Given the description of an element on the screen output the (x, y) to click on. 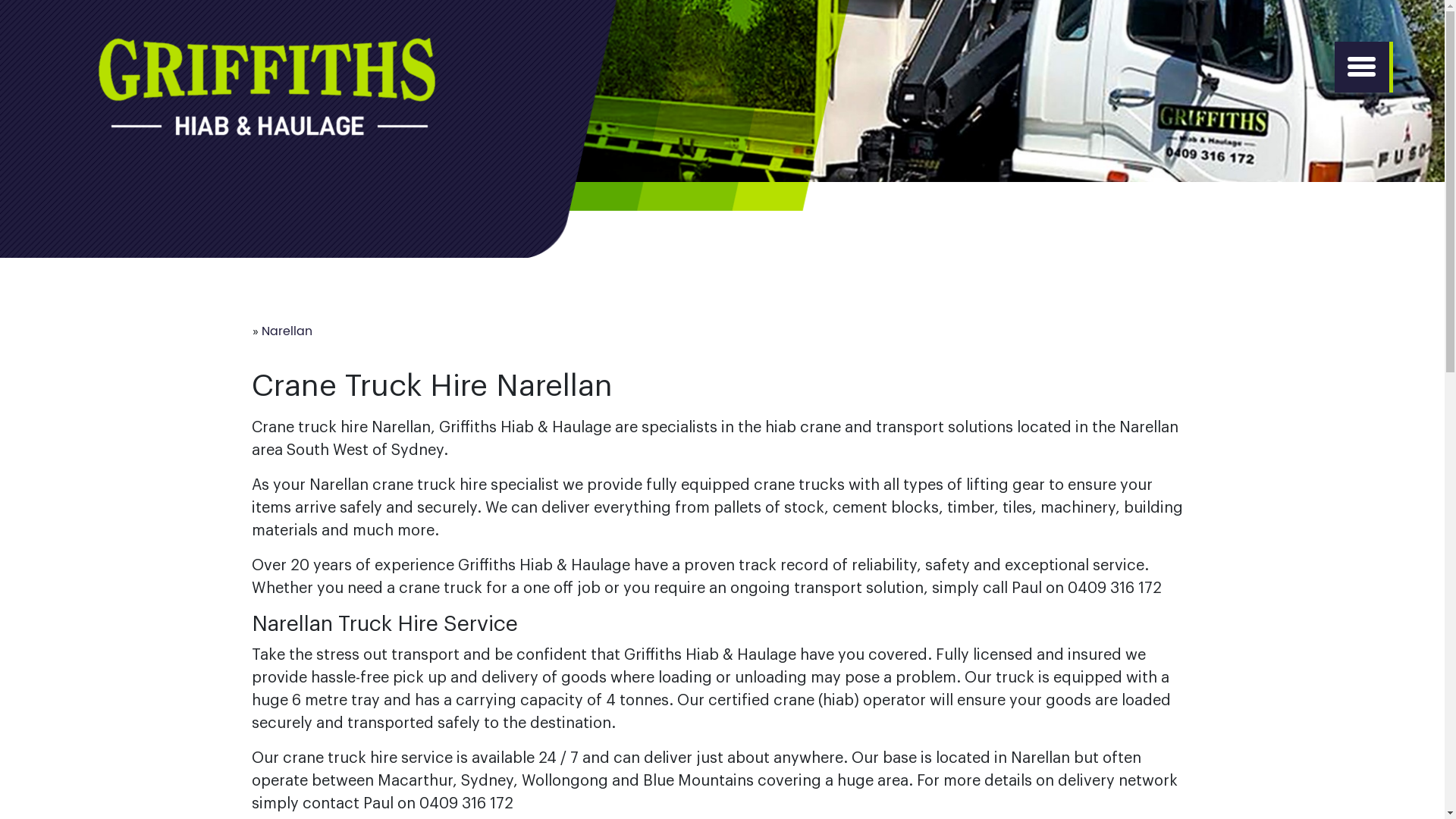
Menu Element type: hover (1361, 66)
Narellan Element type: text (286, 331)
